Given the description of an element on the screen output the (x, y) to click on. 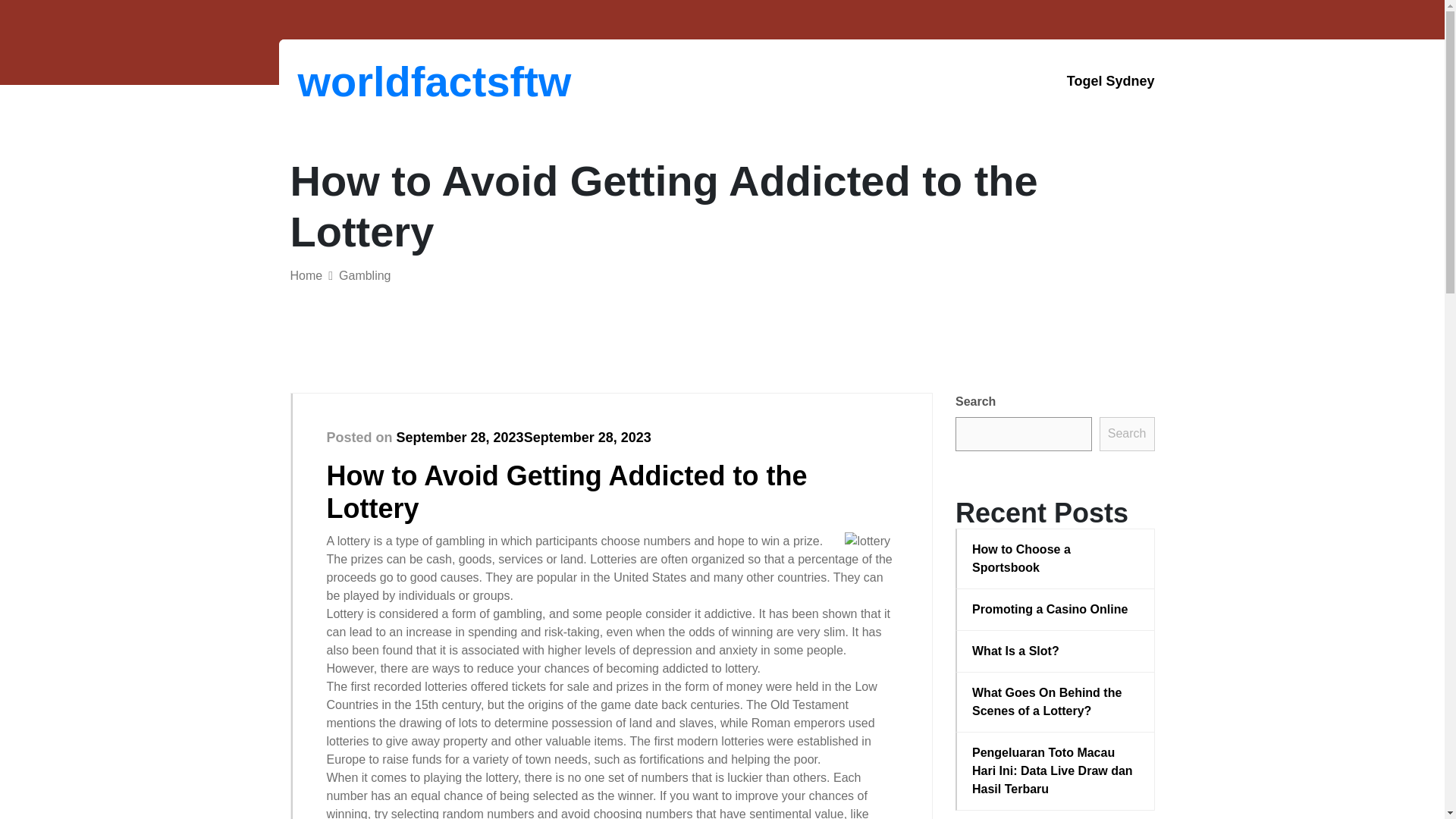
September 28, 2023September 28, 2023 (523, 437)
How to Avoid Getting Addicted to the Lottery (566, 492)
Togel Sydney (1110, 81)
worldfactsftw (376, 81)
Search (1126, 433)
Home (305, 275)
Togel Sydney (1110, 81)
How to Choose a Sportsbook (1055, 558)
What Is a Slot? (1055, 651)
What Goes On Behind the Scenes of a Lottery? (1055, 701)
Promoting a Casino Online (1055, 609)
Gambling (364, 275)
